Given the description of an element on the screen output the (x, y) to click on. 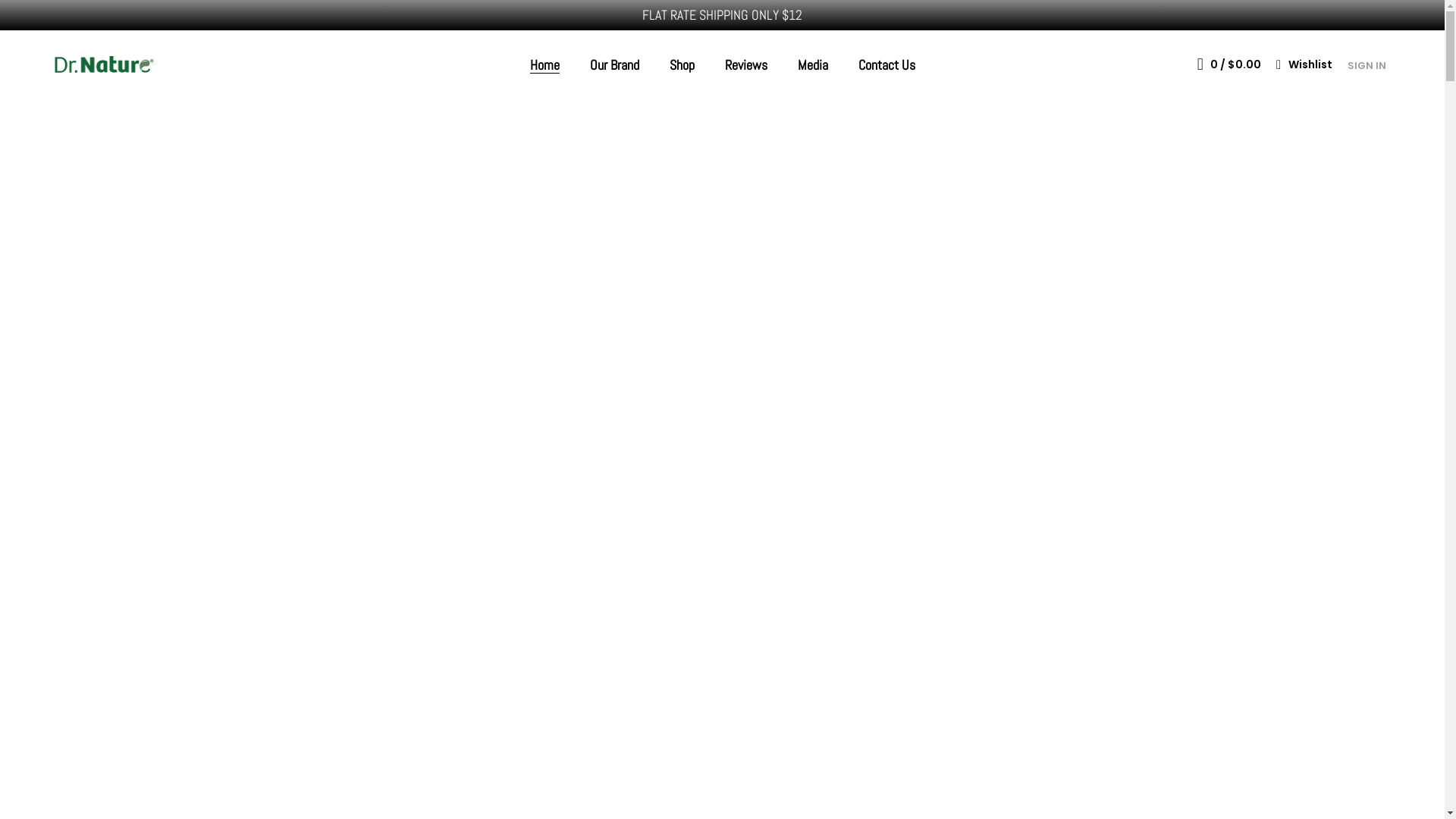
Wishlist Element type: text (1304, 64)
Facebook Element type: hover (526, 764)
Media Element type: text (749, 768)
Our Brand Element type: text (614, 64)
Our Panel Element type: text (758, 718)
Shop Element type: text (681, 64)
Our Brand Element type: text (758, 668)
Shipping & Delivery Element type: text (1015, 643)
Instagram Element type: hover (578, 764)
Home Element type: text (544, 64)
Home Element type: text (748, 643)
Instagram Element type: hover (578, 764)
Test Element type: hover (622, 764)
SIGN IN Element type: text (1366, 65)
Reviews Element type: text (755, 743)
Test Element type: hover (621, 764)
Shop Element type: text (746, 693)
0 $0.00 Element type: text (1229, 64)
Facebook Element type: hover (526, 764)
Privacy Policy Element type: text (1001, 693)
Contact Us Element type: text (886, 64)
Returns Policy Element type: text (1002, 668)
Reviews Element type: text (745, 64)
Media Element type: text (812, 64)
Contact Us Element type: text (762, 793)
